Given the description of an element on the screen output the (x, y) to click on. 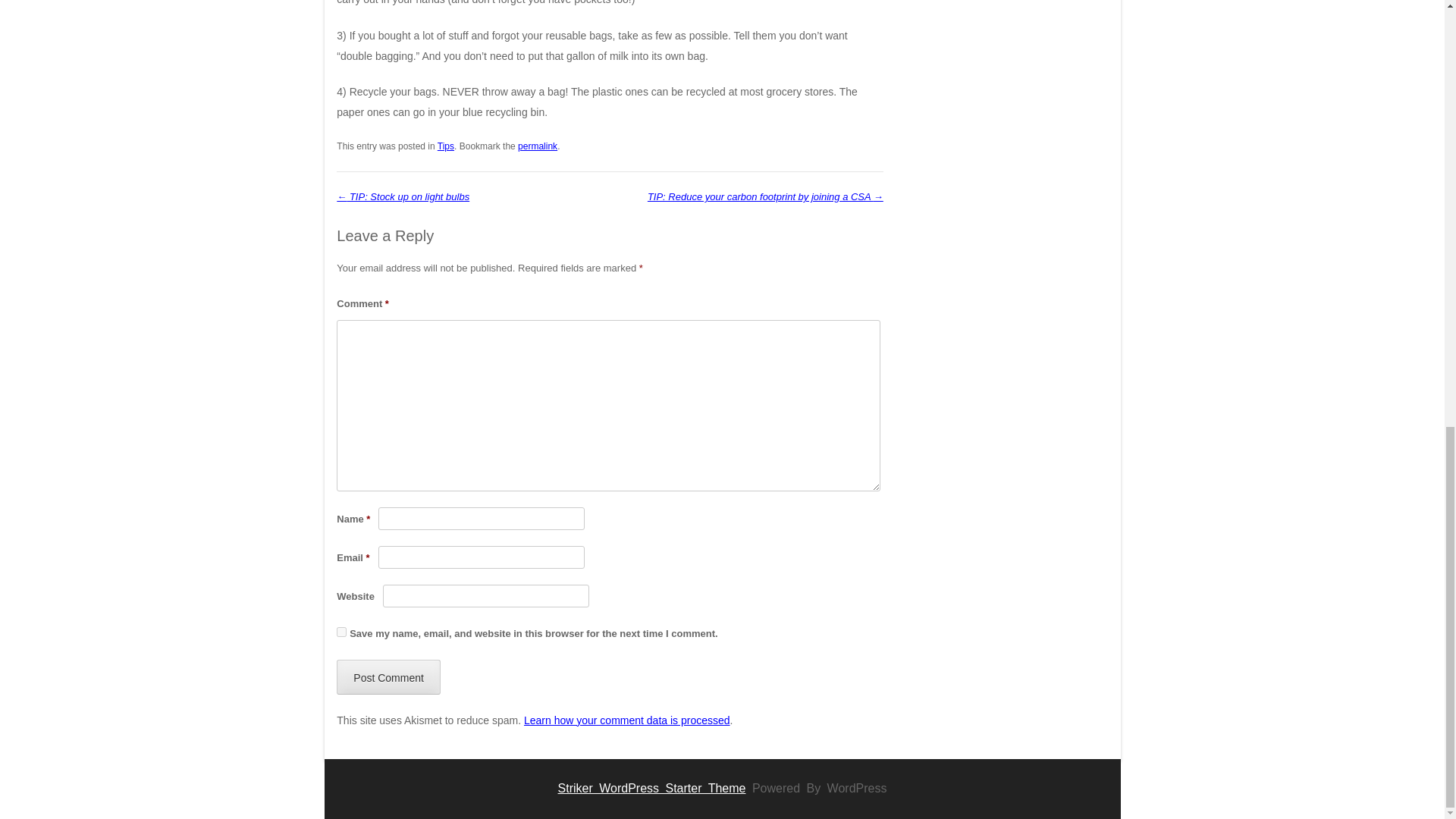
Learn how your comment data is processed (627, 720)
Post Comment (388, 677)
Tips (446, 145)
yes (341, 632)
permalink (537, 145)
Post Comment (388, 677)
Striker WordPress Starter Theme (651, 788)
Permalink to TIP: Bag the Bags! (537, 145)
